Given the description of an element on the screen output the (x, y) to click on. 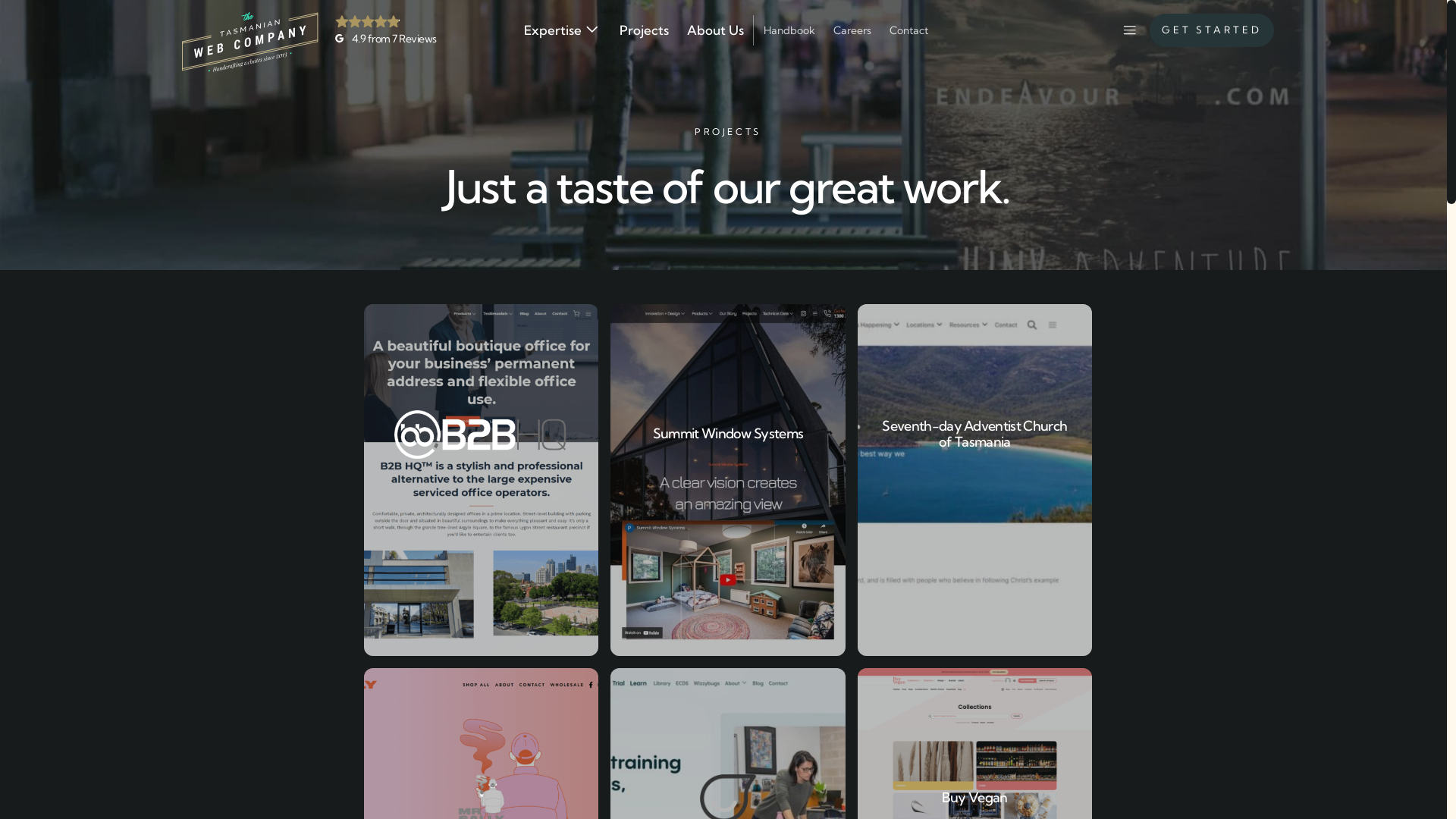
MENU Element type: text (1128, 30)
Skip to content Element type: text (0, 0)
Bhc office wordpress theme. Element type: hover (481, 479)
GET STARTED Element type: text (1211, 30)
taste of our great work. Element type: text (778, 186)
The homepage of a real estate website. Element type: hover (727, 479)
The b2b logo on an orange background. Element type: hover (481, 434)
